Given the description of an element on the screen output the (x, y) to click on. 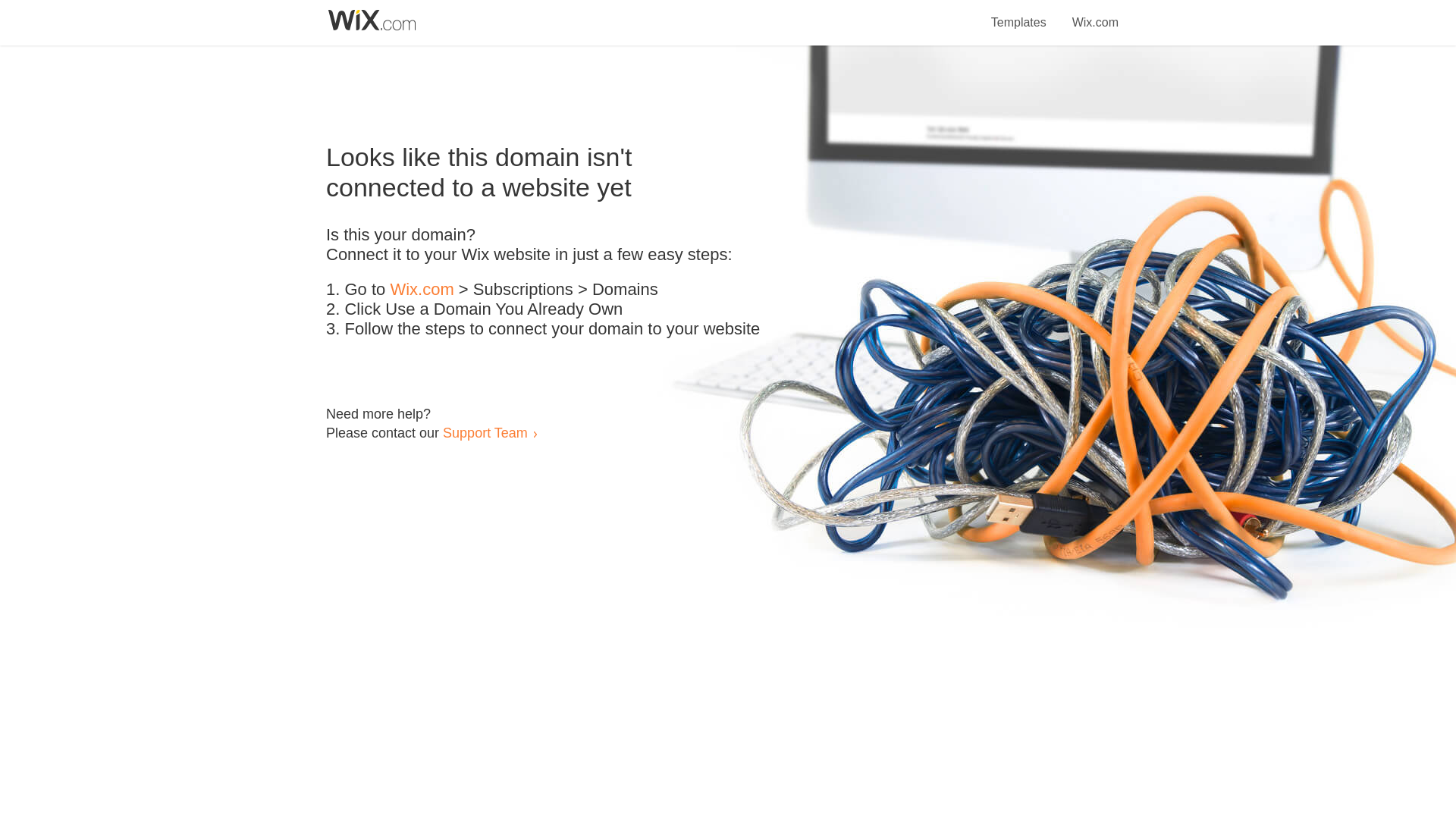
Wix.com (1095, 14)
Wix.com (421, 289)
Templates (1018, 14)
Support Team (484, 432)
